Given the description of an element on the screen output the (x, y) to click on. 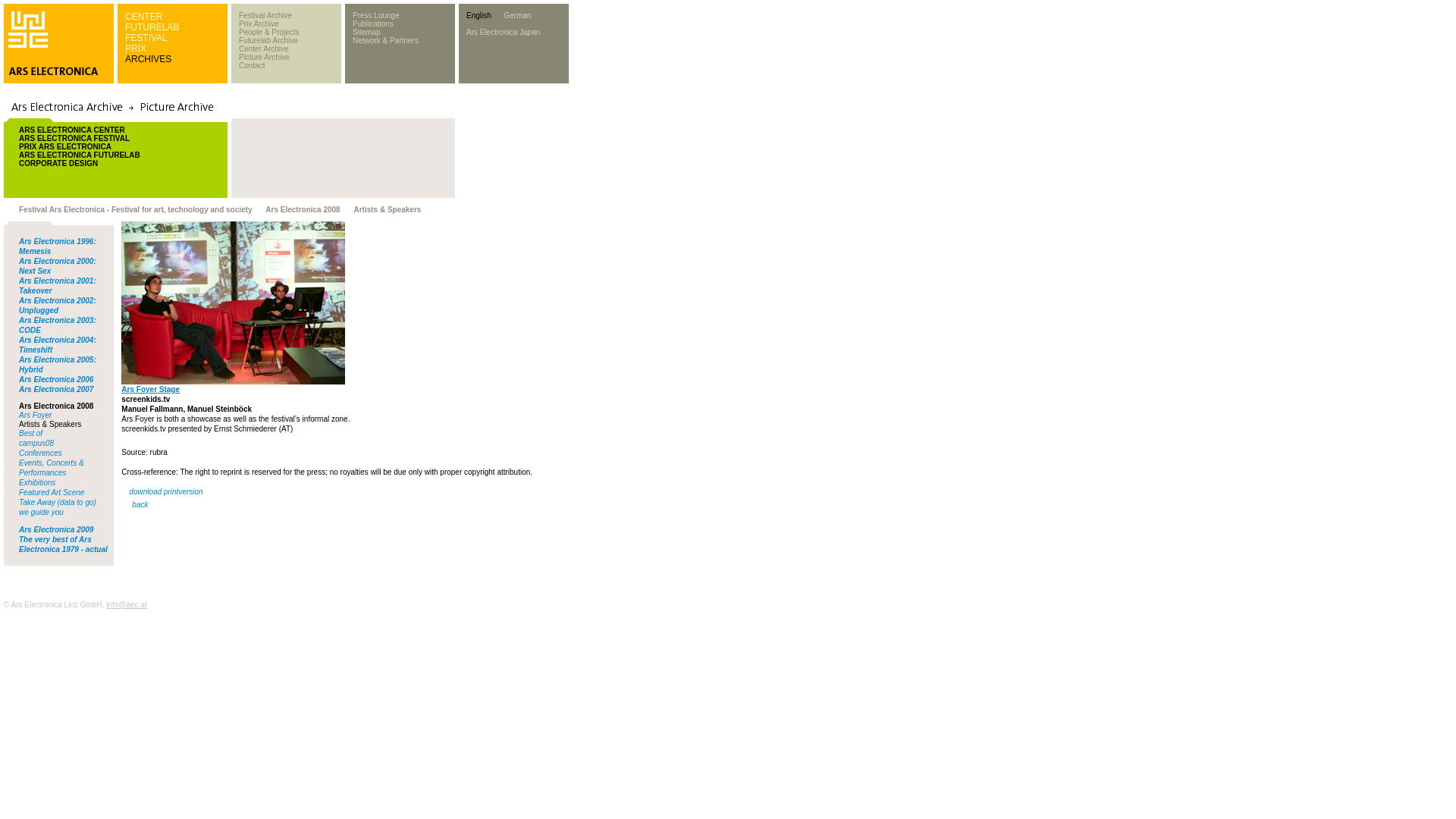
Center Archive (263, 49)
PRIX (136, 48)
Picture Archive (263, 57)
ARS ELECTRONICA CENTER (71, 130)
Publications (372, 23)
Conferences (40, 452)
Best of (30, 433)
FUTURELAB (152, 27)
Press Lounge (375, 15)
Ars Electronica 2008 (55, 406)
Ars Electronica 2006 (55, 379)
Ars Electronica 2000: Next Sex (57, 266)
PRIX ARS ELECTRONICA (65, 146)
ARS ELECTRONICA FUTURELAB (78, 154)
English (478, 15)
